Given the description of an element on the screen output the (x, y) to click on. 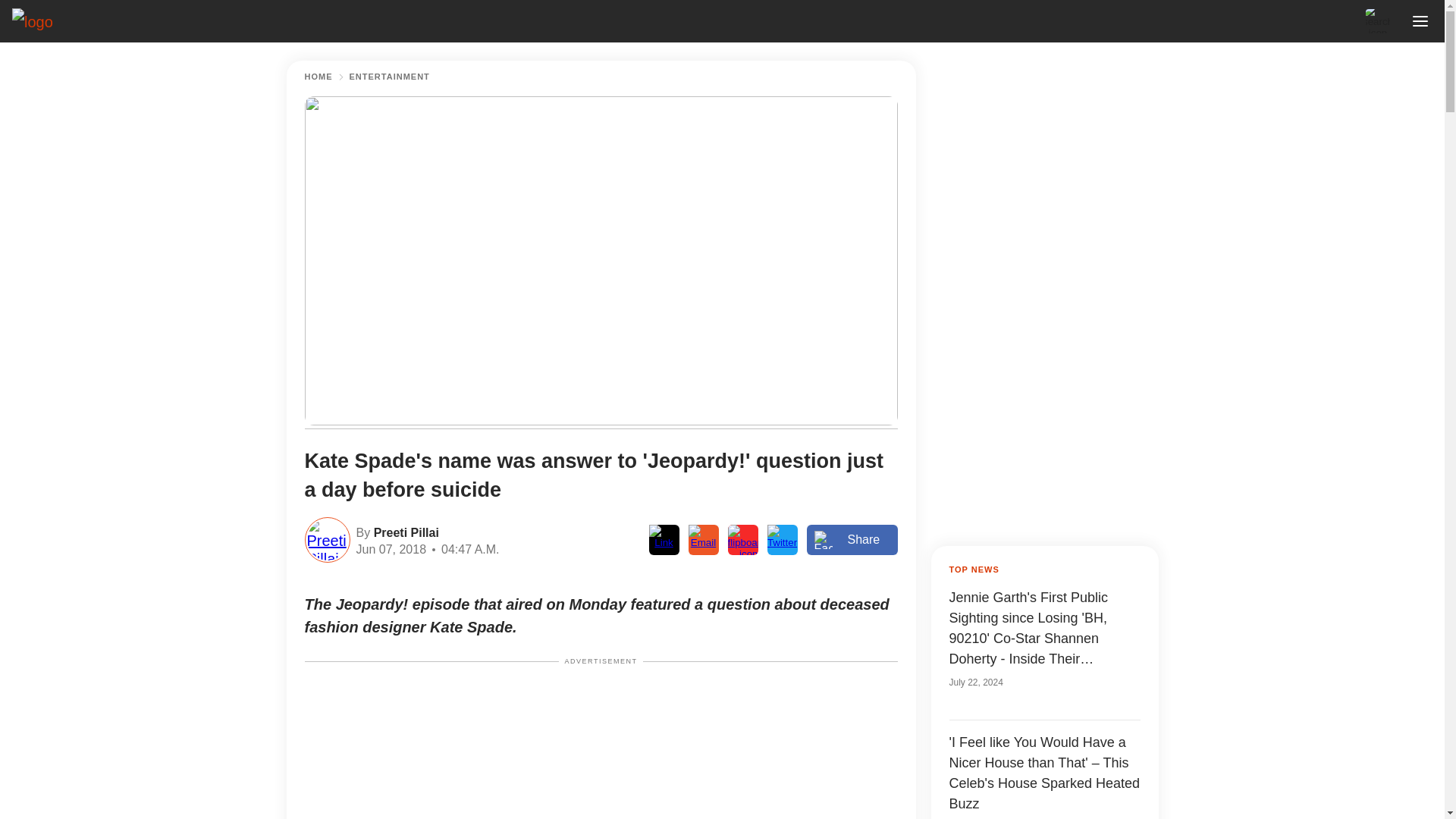
Preeti Pillai (404, 531)
HOME (318, 76)
ENTERTAINMENT (389, 76)
